Given the description of an element on the screen output the (x, y) to click on. 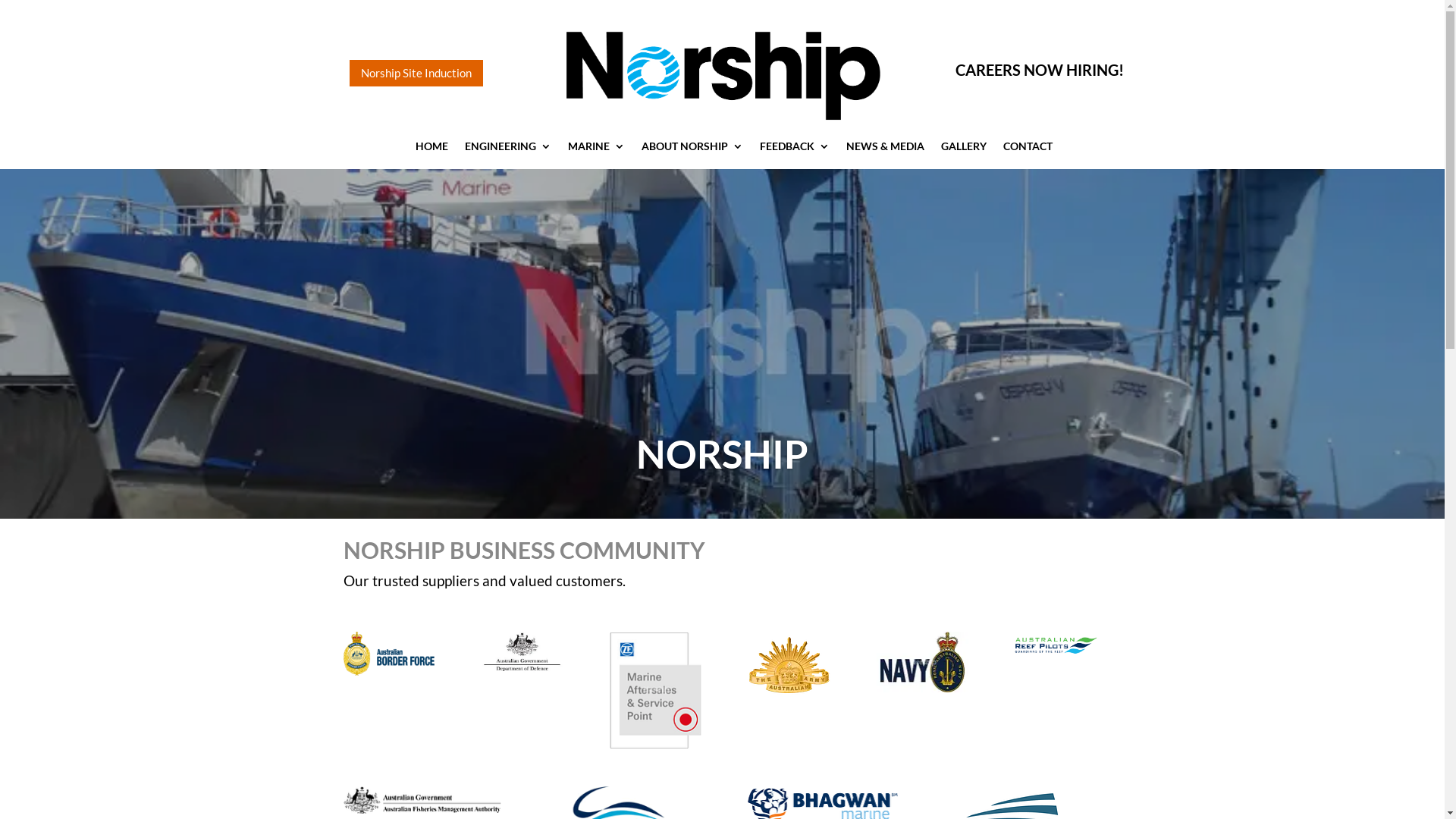
FEEDBACK Element type: text (794, 149)
GALLERY Element type: text (962, 149)
NEWS & MEDIA Element type: text (885, 149)
Norship Site Induction Element type: text (416, 72)
CONTACT Element type: text (1026, 149)
HOME Element type: text (431, 149)
ENGINEERING Element type: text (507, 149)
MARINE Element type: text (595, 149)
LOGOS_Black-Blue Element type: hover (718, 72)
ABOUT NORSHIP Element type: text (692, 149)
